Given the description of an element on the screen output the (x, y) to click on. 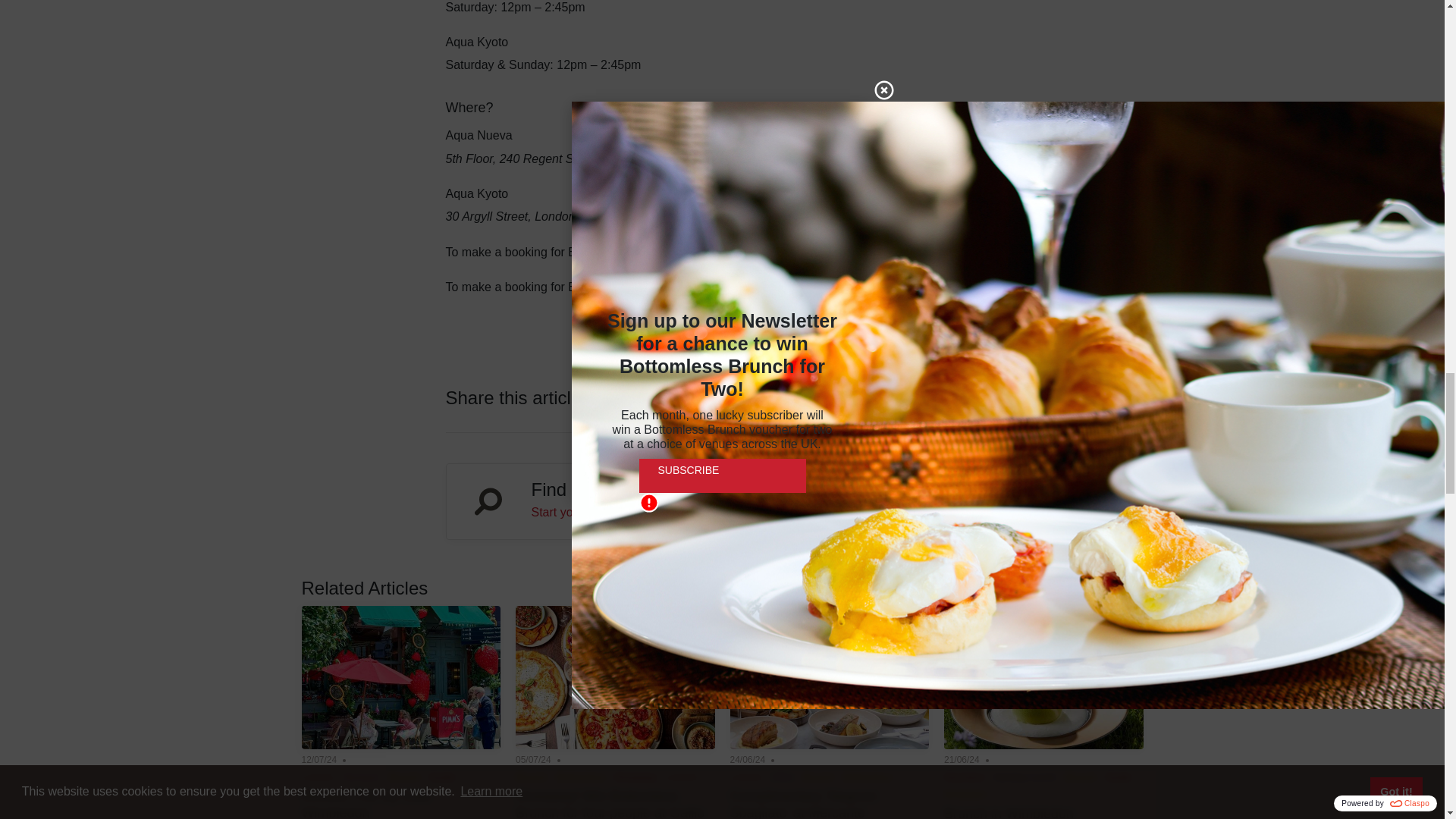
Giveaway! Win Bottomless Brunch for four people at Gallio (609, 803)
here (735, 251)
View all news (1099, 590)
Review: The Ivy Cafe Wimbledon (365, 803)
Brunch in Wimbledon (1008, 812)
here (731, 286)
